Given the description of an element on the screen output the (x, y) to click on. 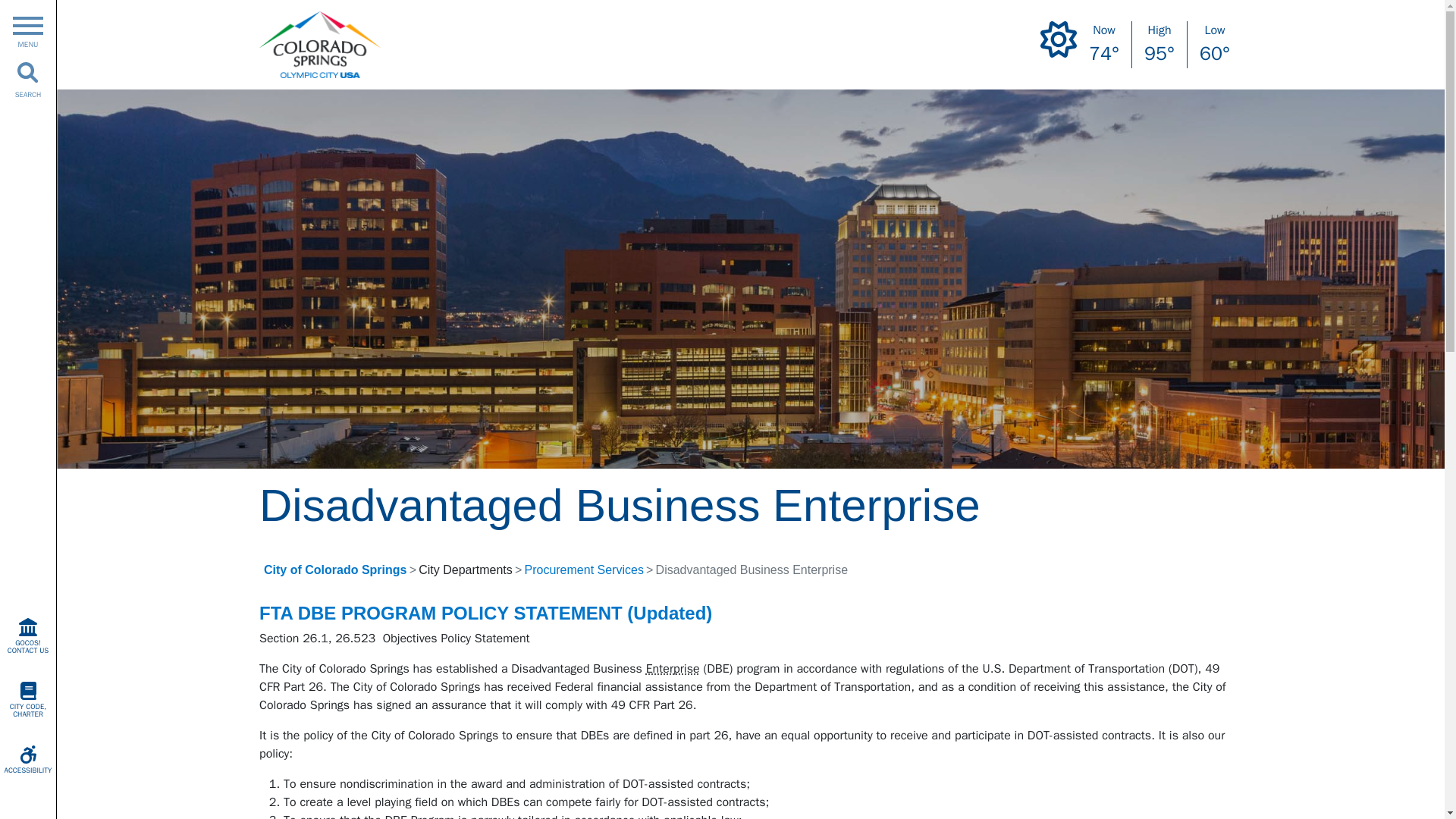
MENU (28, 29)
GOCOS! CONTACT US (28, 635)
Procurement Services (583, 569)
CITY CODE, CHARTER (28, 699)
City of Colorado Springs (334, 569)
ACCESSIBILITY (28, 760)
